Given the description of an element on the screen output the (x, y) to click on. 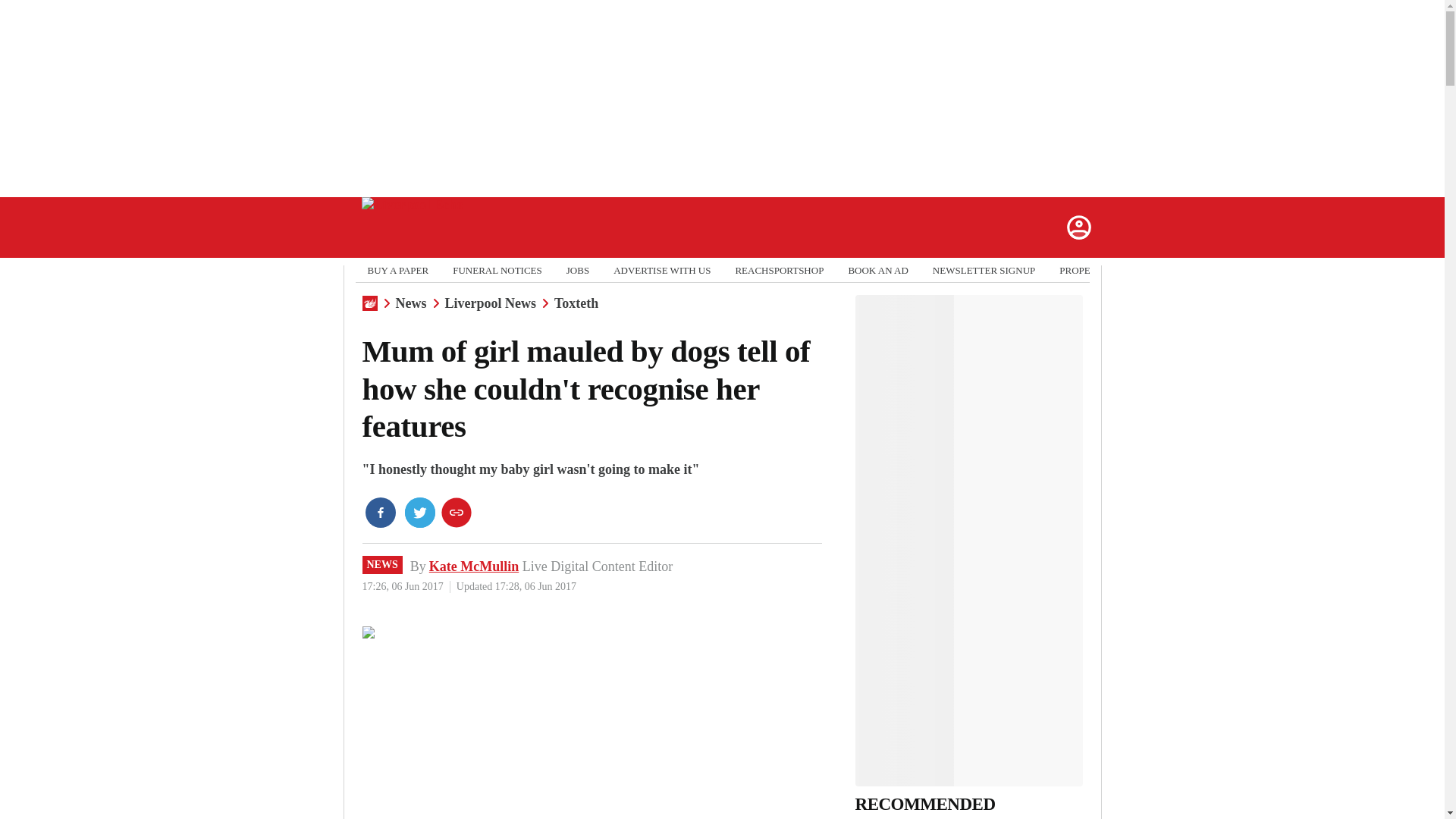
ADVERTISE WITH US (661, 270)
FUNERAL NOTICES (496, 270)
Go to the Liverpool Echo homepage (411, 227)
JOBS (577, 270)
REACHSPORTSHOP (779, 270)
Kate McMullin (473, 566)
NEWSLETTER SIGNUP (984, 270)
News (411, 303)
copy link (456, 512)
NEWS (382, 565)
